Given the description of an element on the screen output the (x, y) to click on. 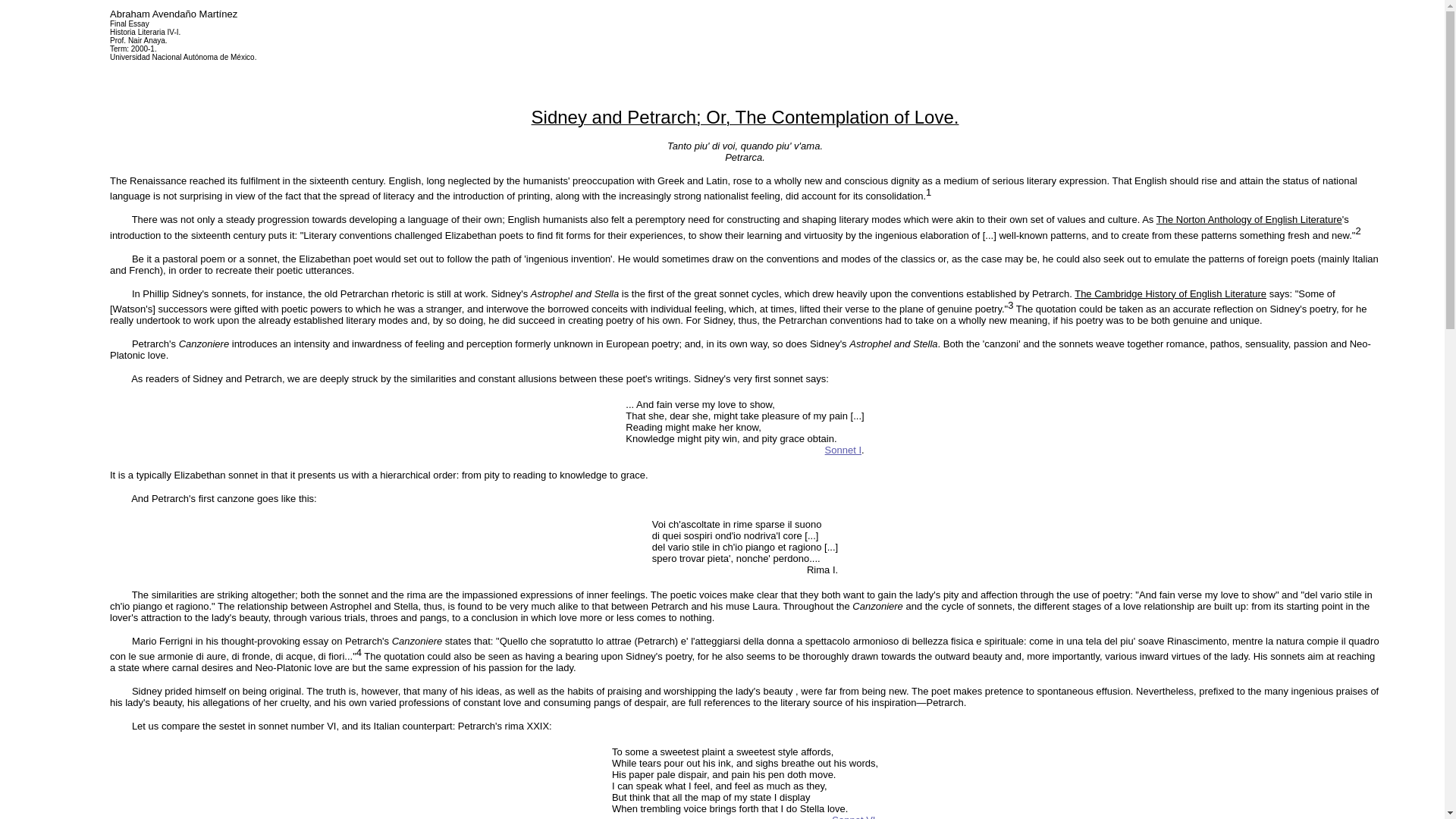
Sonnet I (843, 449)
Sonnet VI (853, 816)
